Given the description of an element on the screen output the (x, y) to click on. 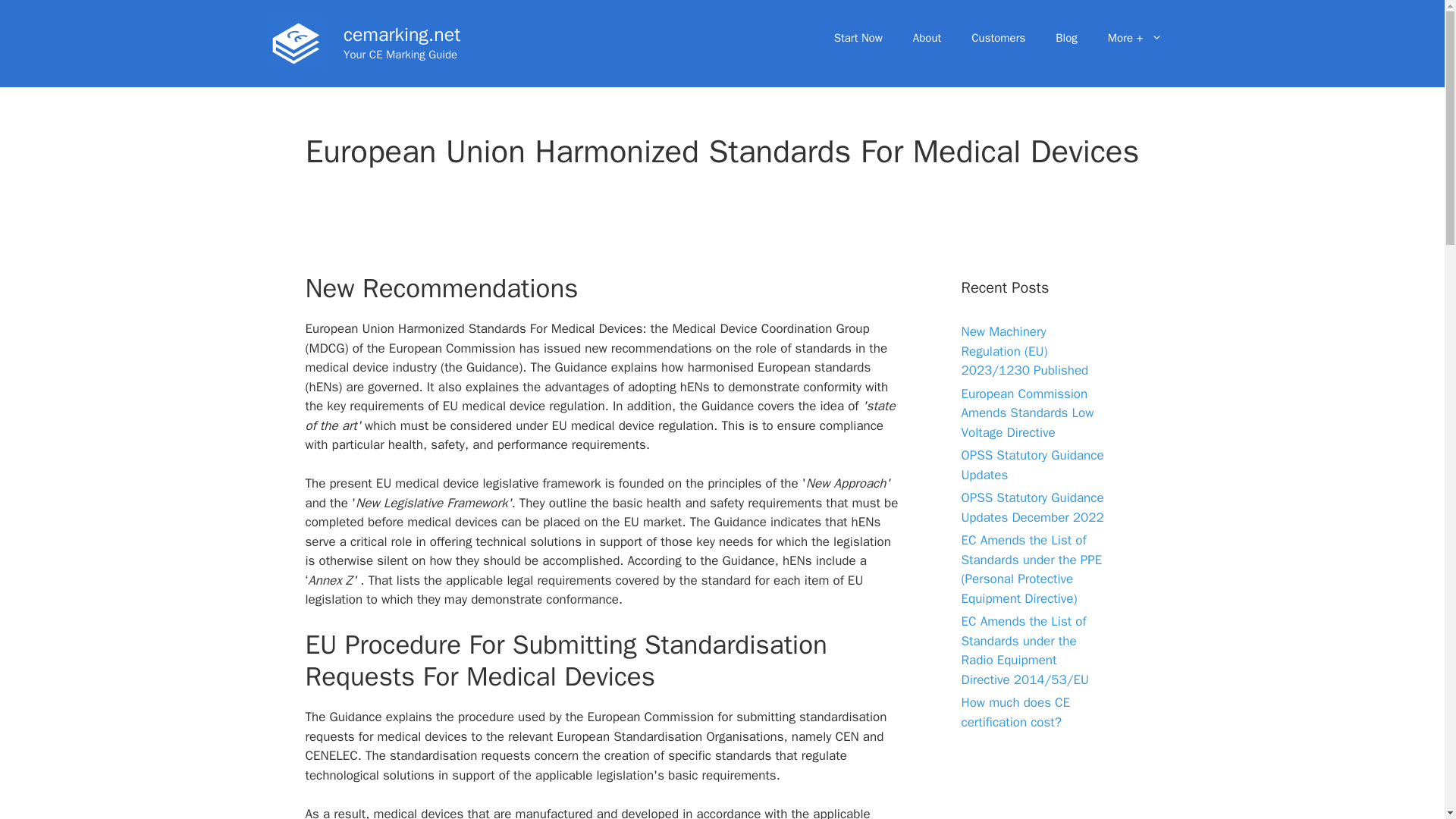
Customers (998, 37)
Look what our CE marking customers have to say (998, 37)
About (927, 37)
Start CE Marking (858, 37)
Start Now (858, 37)
Blog (1066, 37)
cemarking.net (401, 33)
CE Marking Blog (1066, 37)
